Given the description of an element on the screen output the (x, y) to click on. 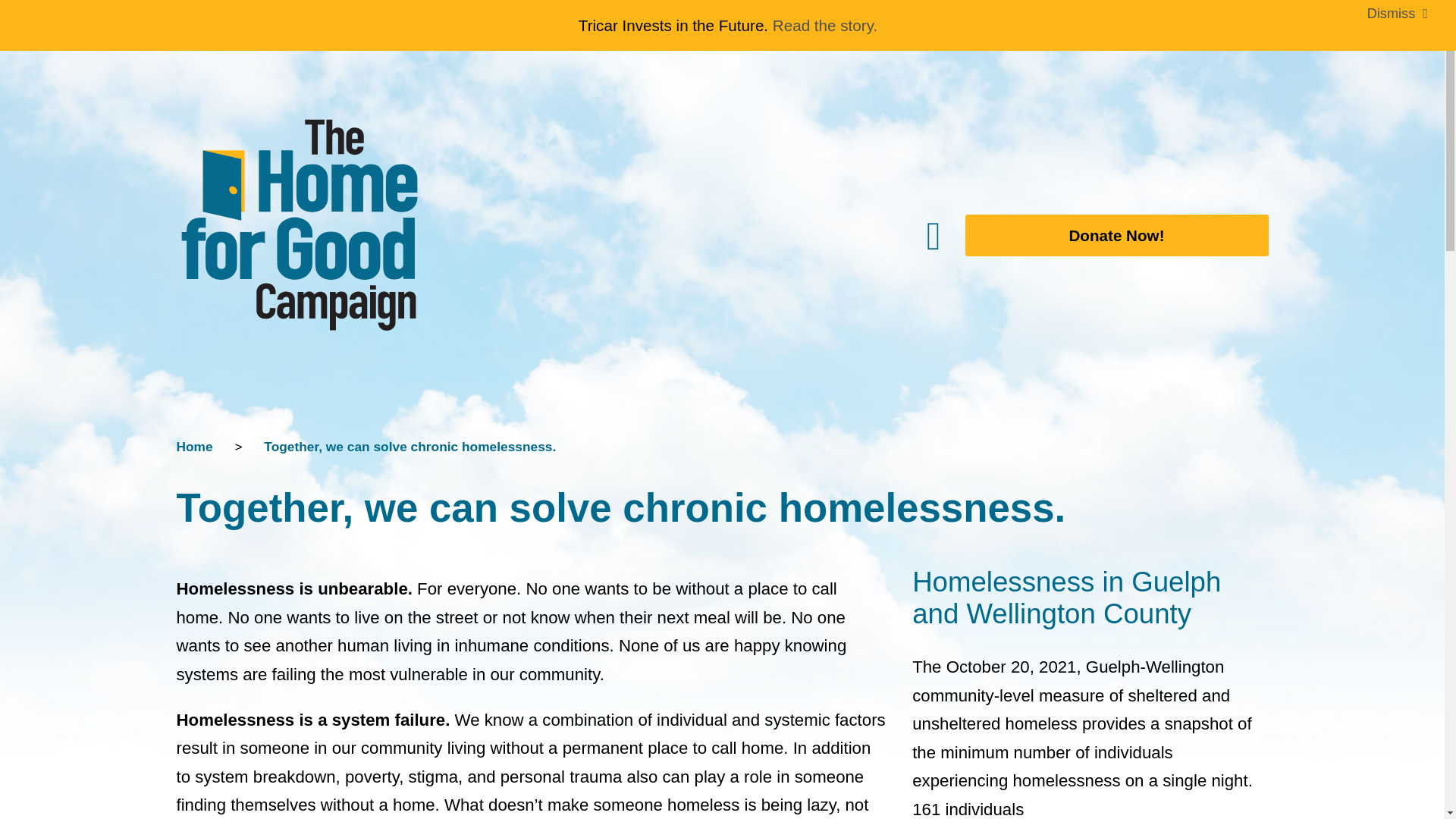
Home (194, 446)
Menu (776, 235)
Read the story. (825, 25)
Home (194, 446)
Dismiss    (1399, 13)
Donate Now! (1104, 235)
